Given the description of an element on the screen output the (x, y) to click on. 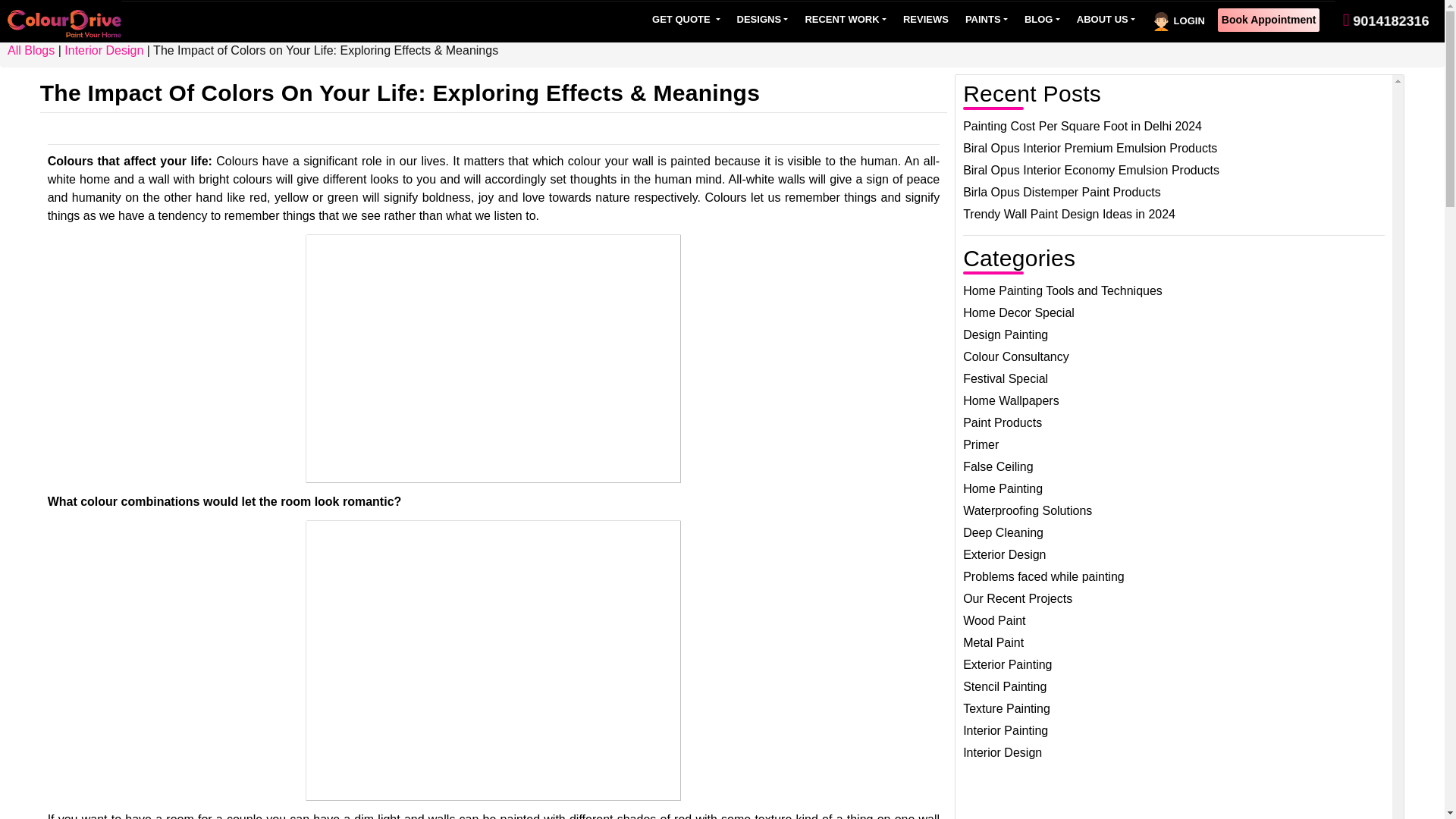
PAINTS (985, 19)
RECENT WORK (844, 19)
REVIEWS (925, 19)
GET QUOTE (685, 19)
DESIGNS (762, 19)
